Given the description of an element on the screen output the (x, y) to click on. 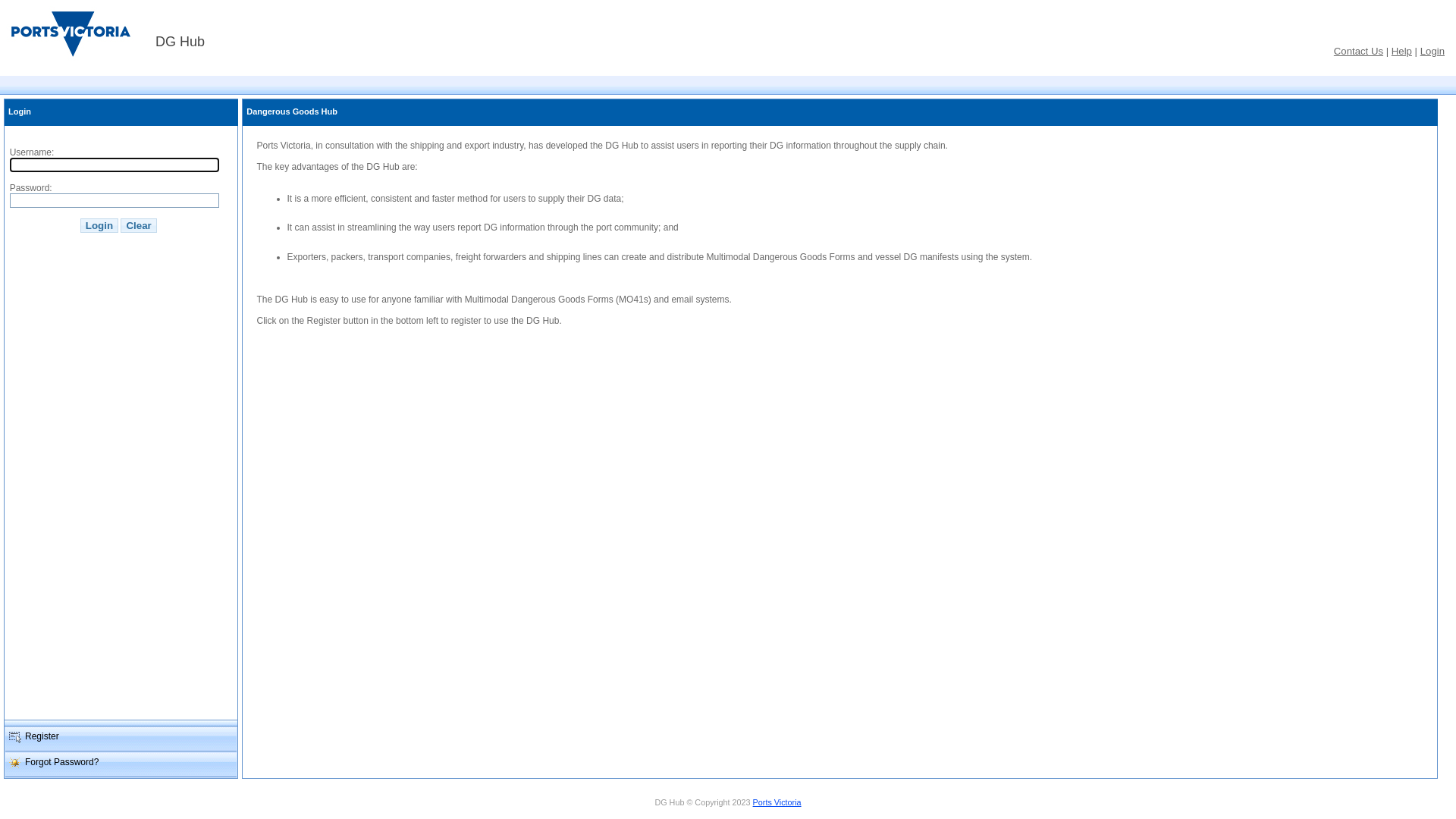
Forgot Password? Element type: text (120, 765)
Clear Element type: text (138, 225)
Help Element type: text (1401, 50)
Contact Us Element type: text (1358, 50)
Ports Victoria Element type: text (777, 801)
Login Element type: text (99, 225)
Register Element type: text (120, 739)
Login Element type: text (1432, 50)
